Given the description of an element on the screen output the (x, y) to click on. 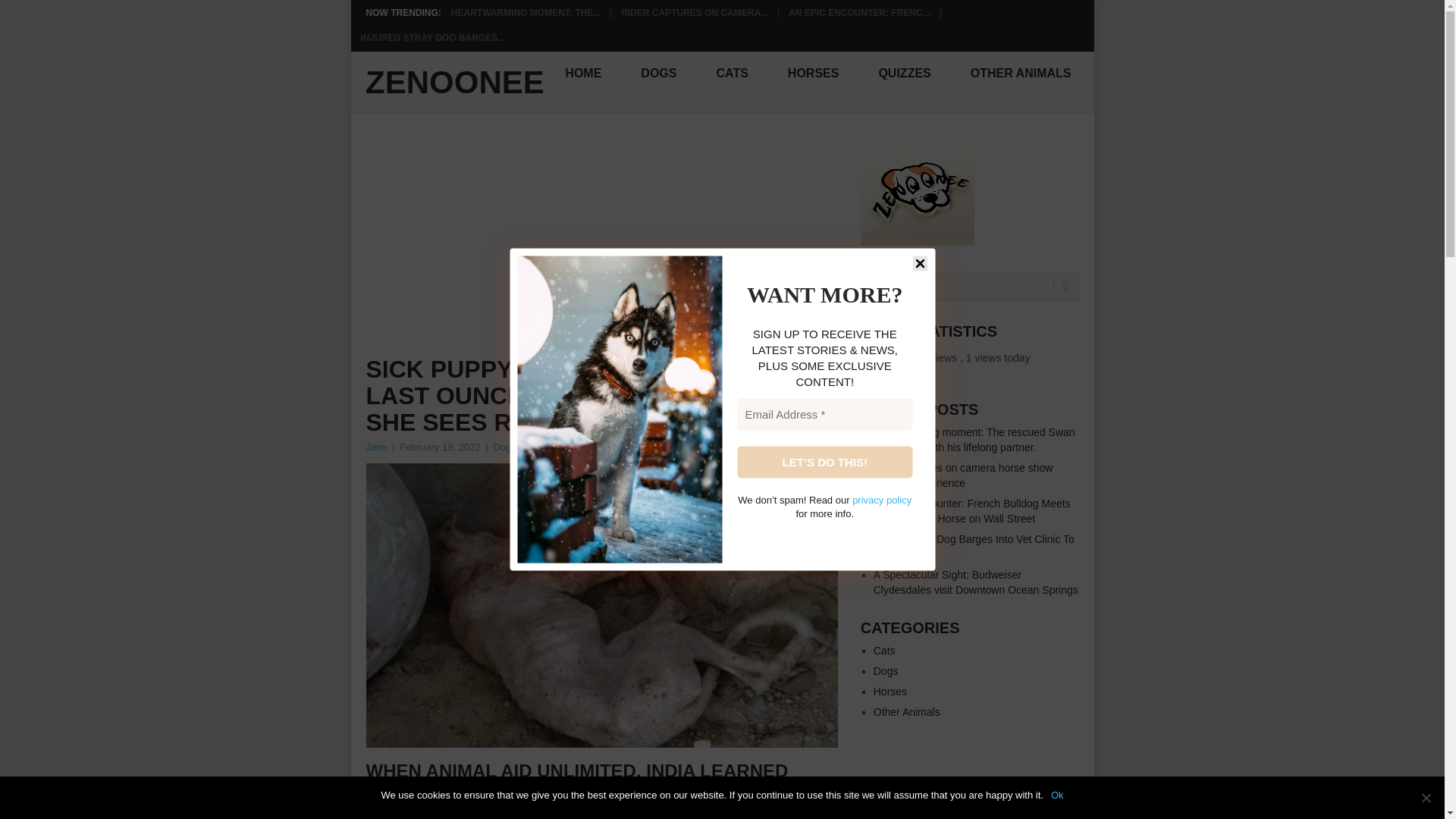
INJURED STRAY DOG BARGES... (433, 37)
ZENOONEE (454, 82)
Advertisement (602, 244)
RIDER CAPTURES ON CAMERA... (694, 12)
Email Address (824, 414)
CATS (735, 82)
DOGS (662, 82)
Rider captures on camera horse show jumping experience (962, 474)
Dogs (504, 446)
privacy policy (881, 500)
Jane (376, 446)
QUIZZES (907, 82)
